Given the description of an element on the screen output the (x, y) to click on. 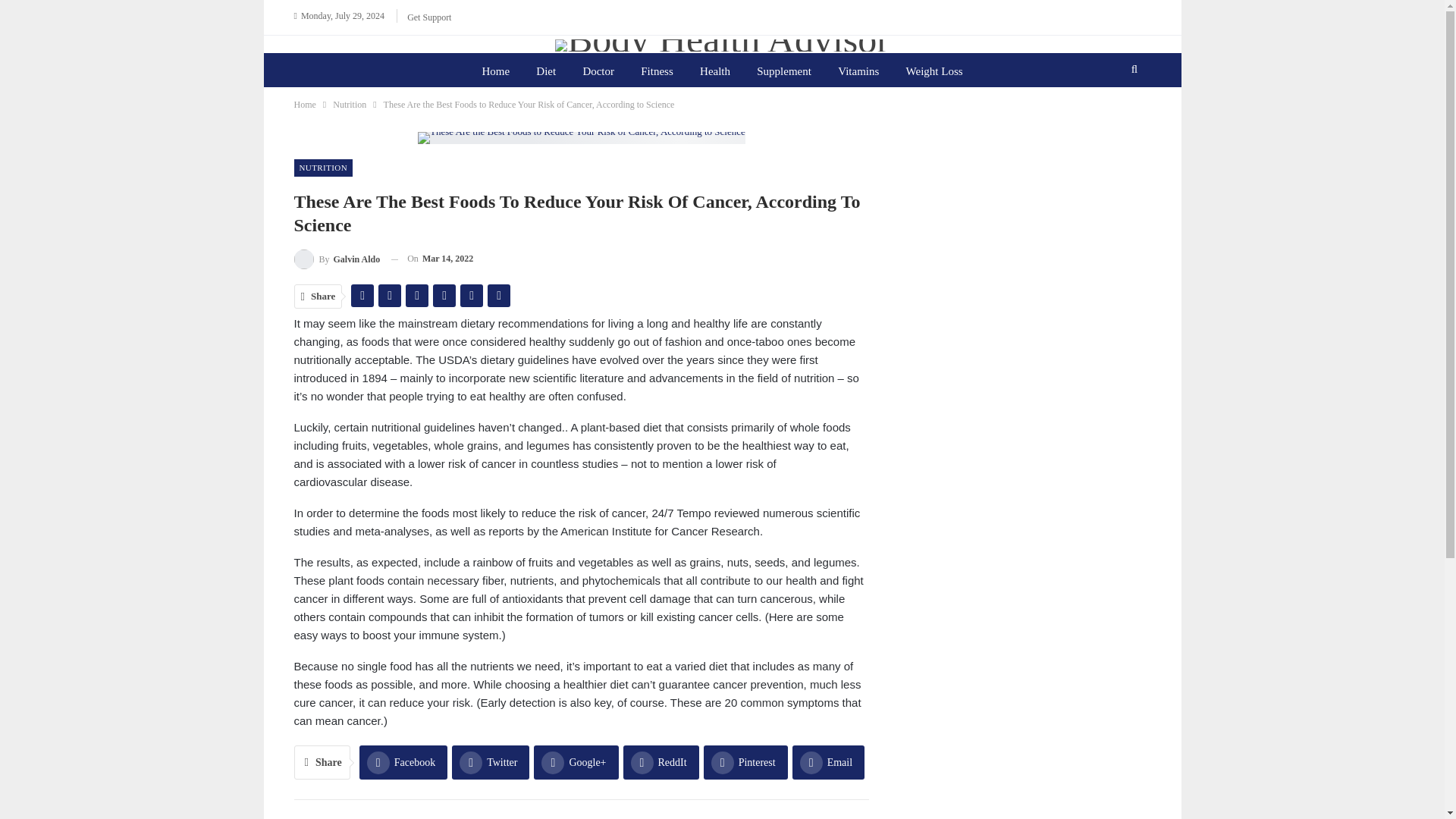
Doctor (598, 71)
Diet (545, 71)
ReddIt (660, 762)
By Galvin Aldo (337, 258)
Home (304, 104)
Facebook (402, 762)
Health (714, 71)
Fitness (656, 71)
Supplement (784, 71)
NUTRITION (323, 167)
Pinterest (745, 762)
Home (494, 71)
Weight Loss (934, 71)
Email (828, 762)
Nutrition (349, 104)
